Given the description of an element on the screen output the (x, y) to click on. 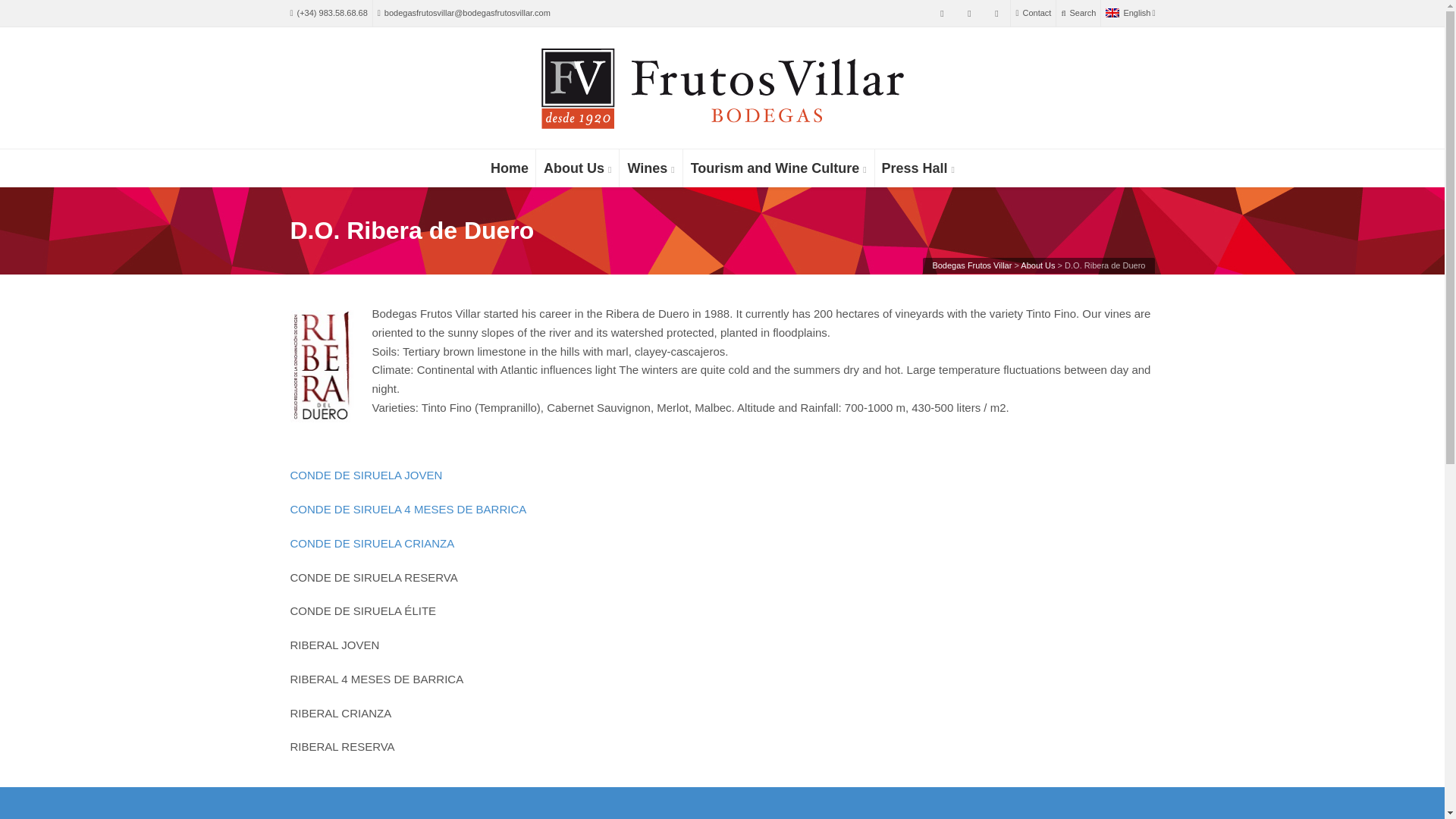
Tourism and Wine Culture (778, 168)
Search (1078, 13)
About Us (576, 168)
Home (509, 168)
Go to Bodegas Frutos Villar. (971, 265)
English (1129, 13)
Go to About Us. (1037, 265)
Wines (650, 168)
Press Hall (918, 168)
Contact (1032, 13)
